Given the description of an element on the screen output the (x, y) to click on. 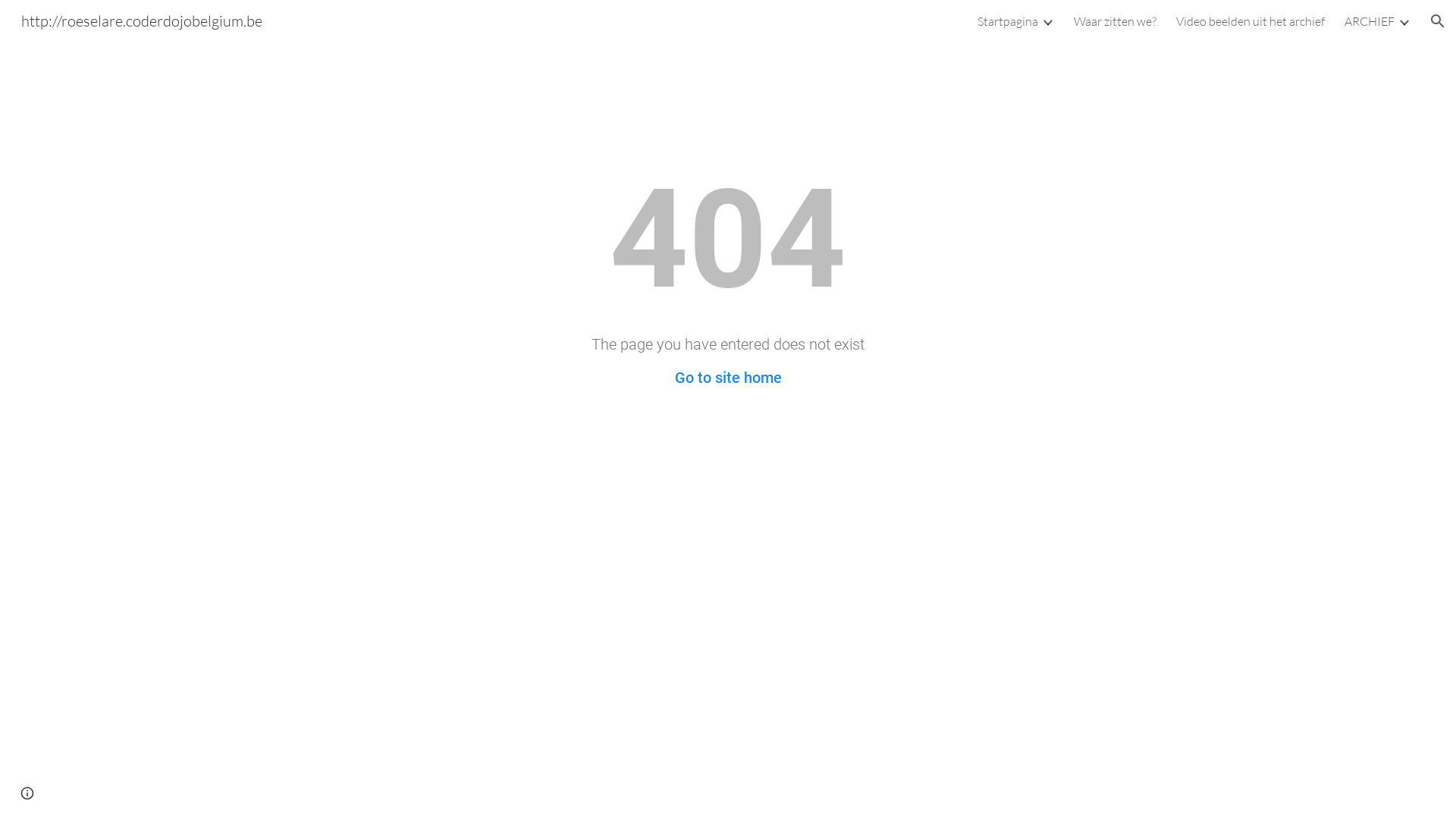
Video beelden uit het archief Element type: text (1250, 20)
Expand/Collapse Element type: hover (1403, 20)
ARCHIEF Element type: text (1369, 20)
Go to site home Element type: text (727, 377)
Waar zitten we? Element type: text (1114, 20)
http://roeselare.coderdojobelgium.be Element type: text (141, 18)
Expand/Collapse Element type: hover (1047, 20)
Startpagina Element type: text (1007, 20)
